Given the description of an element on the screen output the (x, y) to click on. 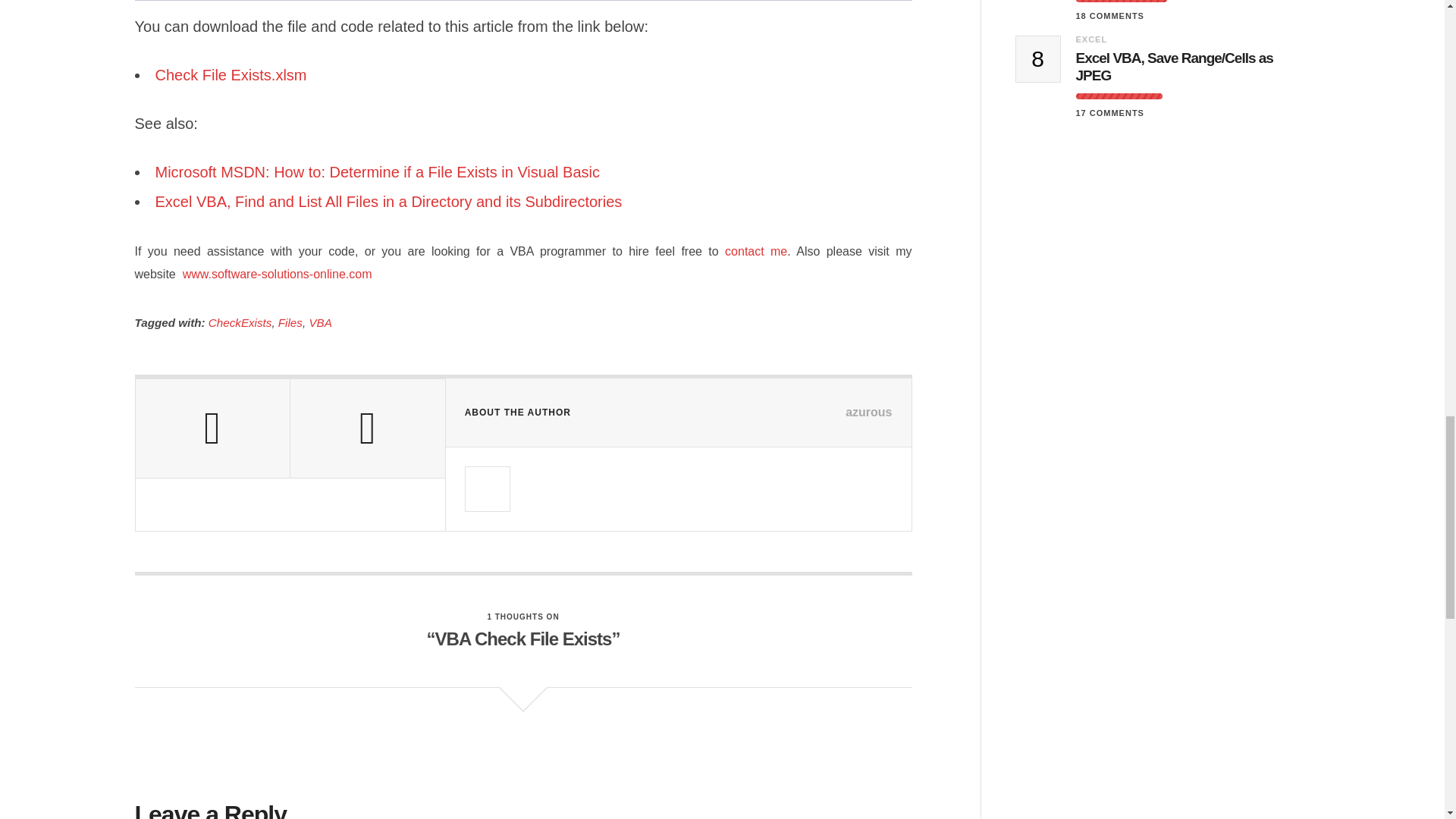
Check File Exists.xlsm  (232, 74)
contact me (756, 250)
VBA Programming Service (275, 273)
Next Post (367, 428)
contact me (756, 250)
CheckExists (240, 322)
Files (290, 322)
Previous Post (212, 428)
 www.software-solutions-online.com (275, 273)
